Given the description of an element on the screen output the (x, y) to click on. 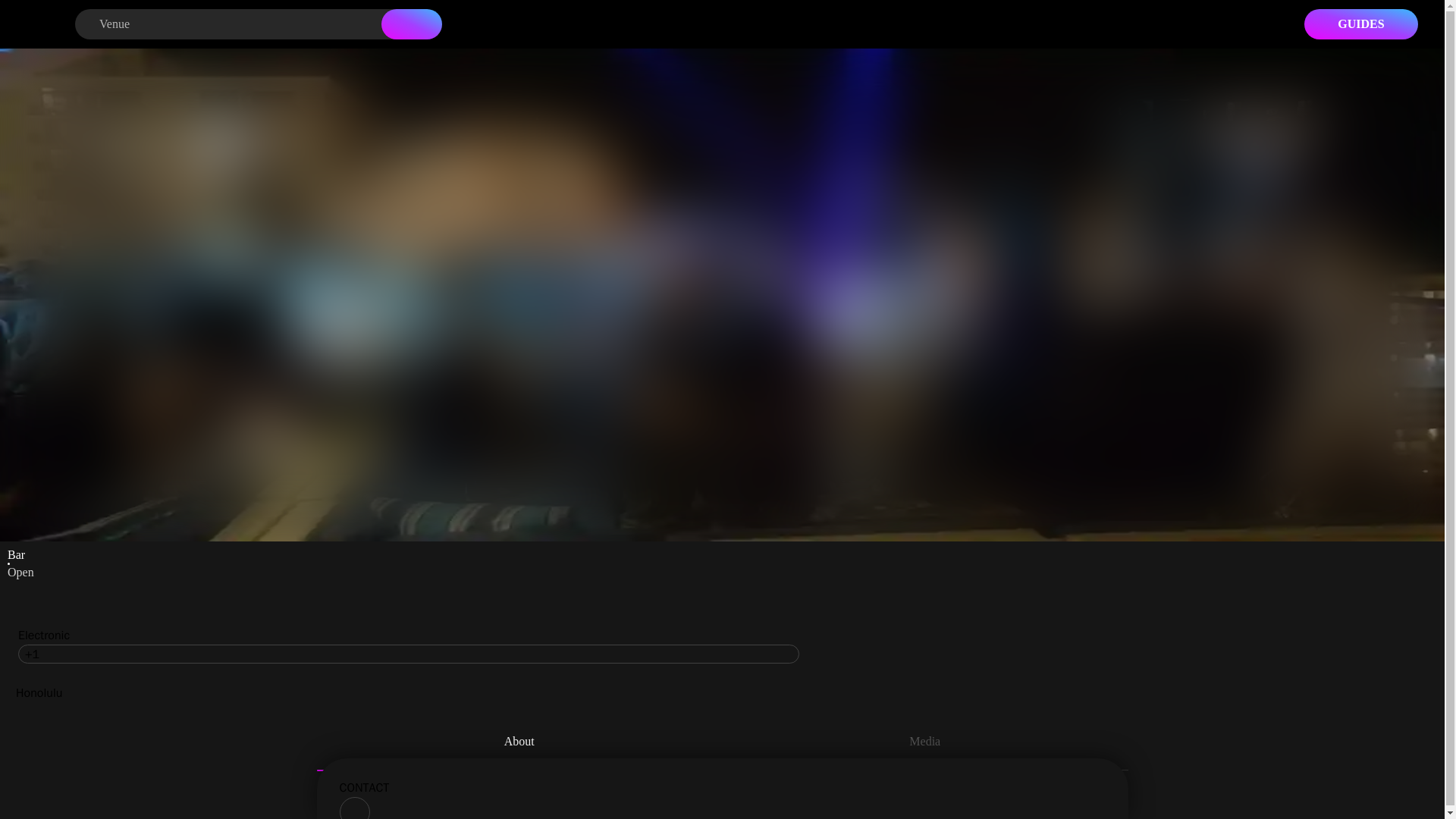
GUIDES (1361, 24)
Media (924, 743)
About (519, 743)
